Given the description of an element on the screen output the (x, y) to click on. 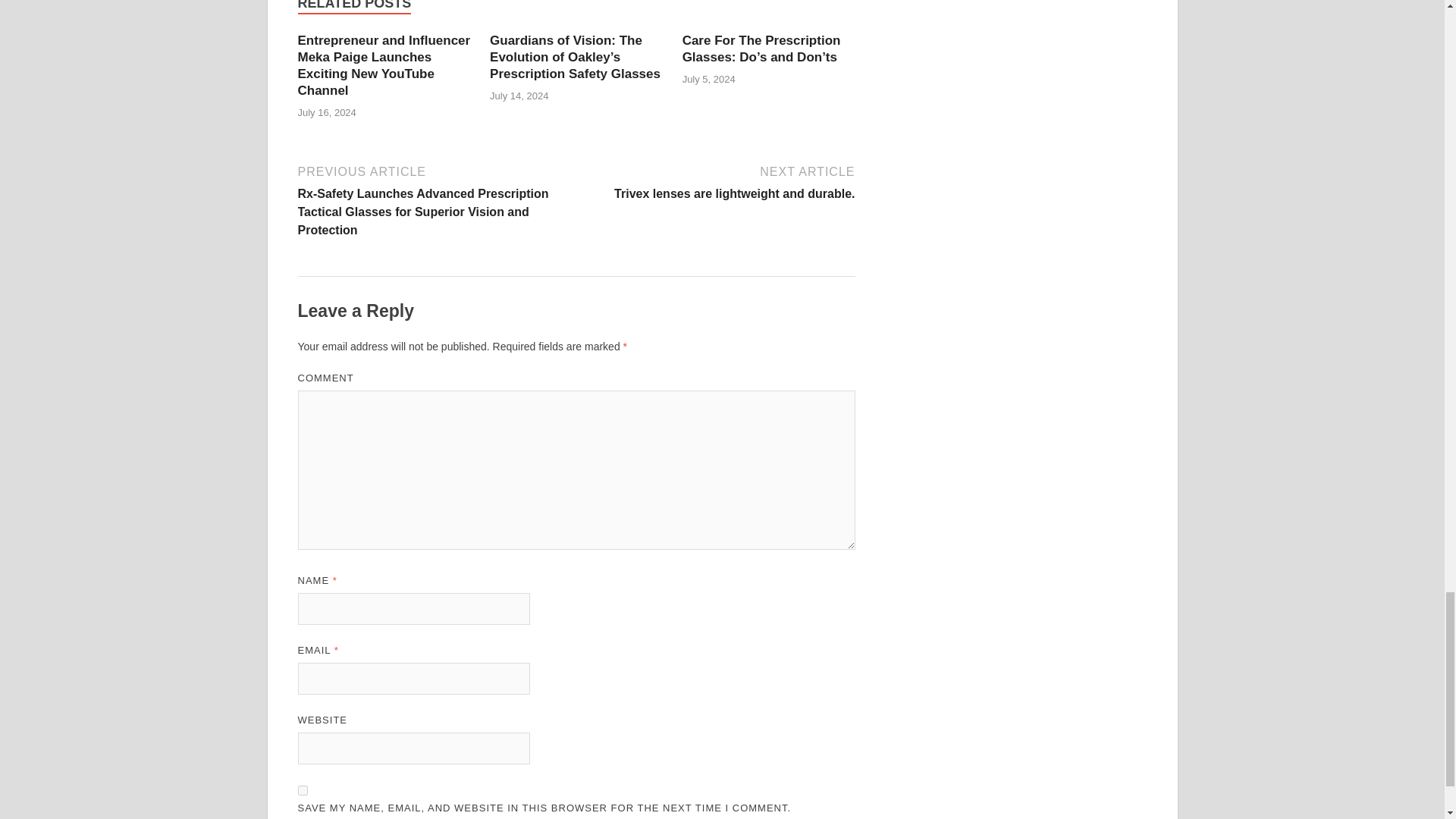
yes (717, 180)
